Given the description of an element on the screen output the (x, y) to click on. 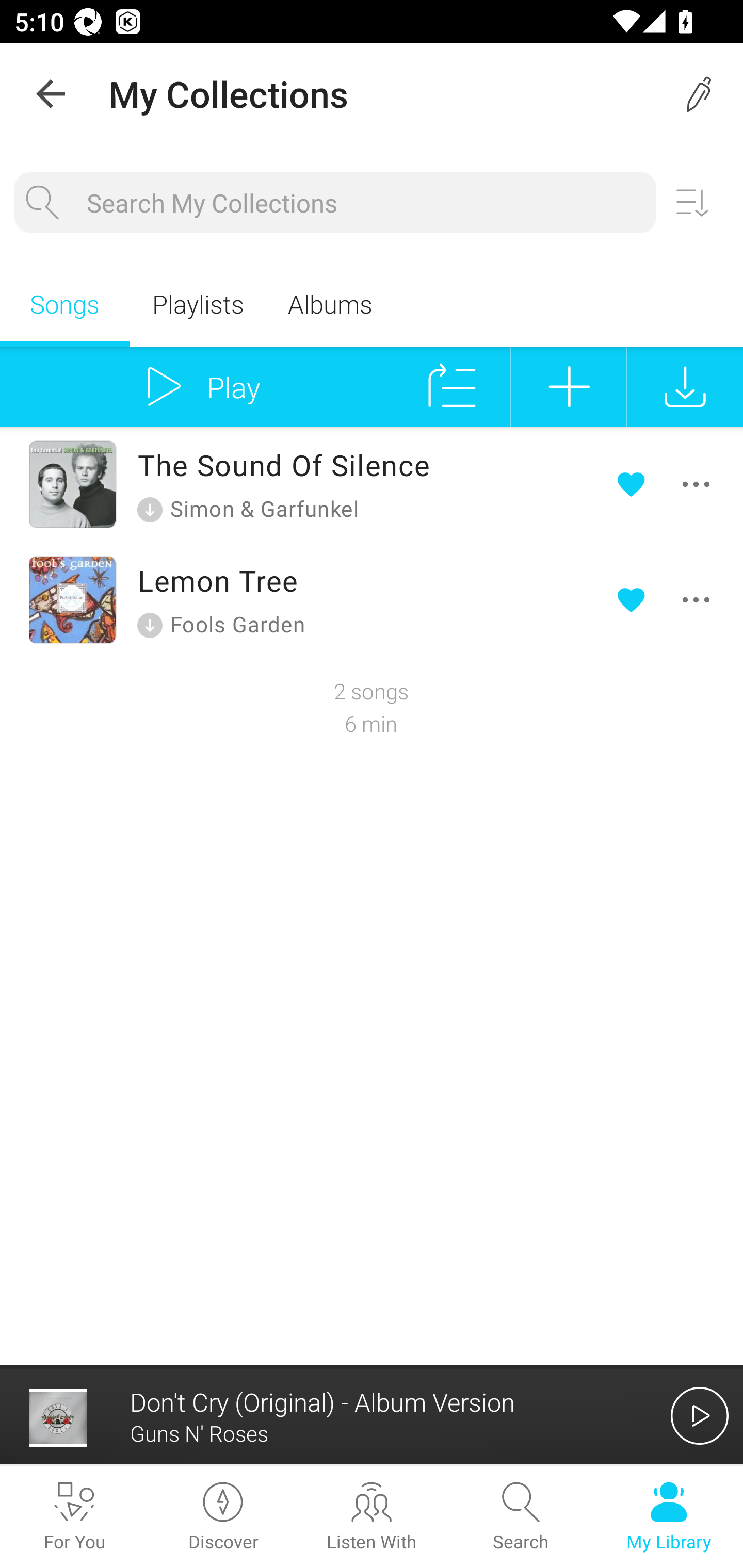
Edit (699, 93)
Search My Collections (364, 202)
Playlists (197, 303)
Albums (330, 303)
Play (197, 386)
add to queue (451, 386)
加入至歌單 (568, 386)
下載歌曲至手機 (685, 386)
The Sound Of Silence 已下載 Simon & Garfunkel 更多操作選項 (371, 484)
更多操作選項 (667, 484)
Lemon Tree 已下載 Fools Garden 更多操作選項 (371, 599)
更多操作選項 (667, 599)
開始播放 (699, 1415)
For You (74, 1517)
Discover (222, 1517)
Listen With (371, 1517)
Search (519, 1517)
My Library (668, 1517)
